Given the description of an element on the screen output the (x, y) to click on. 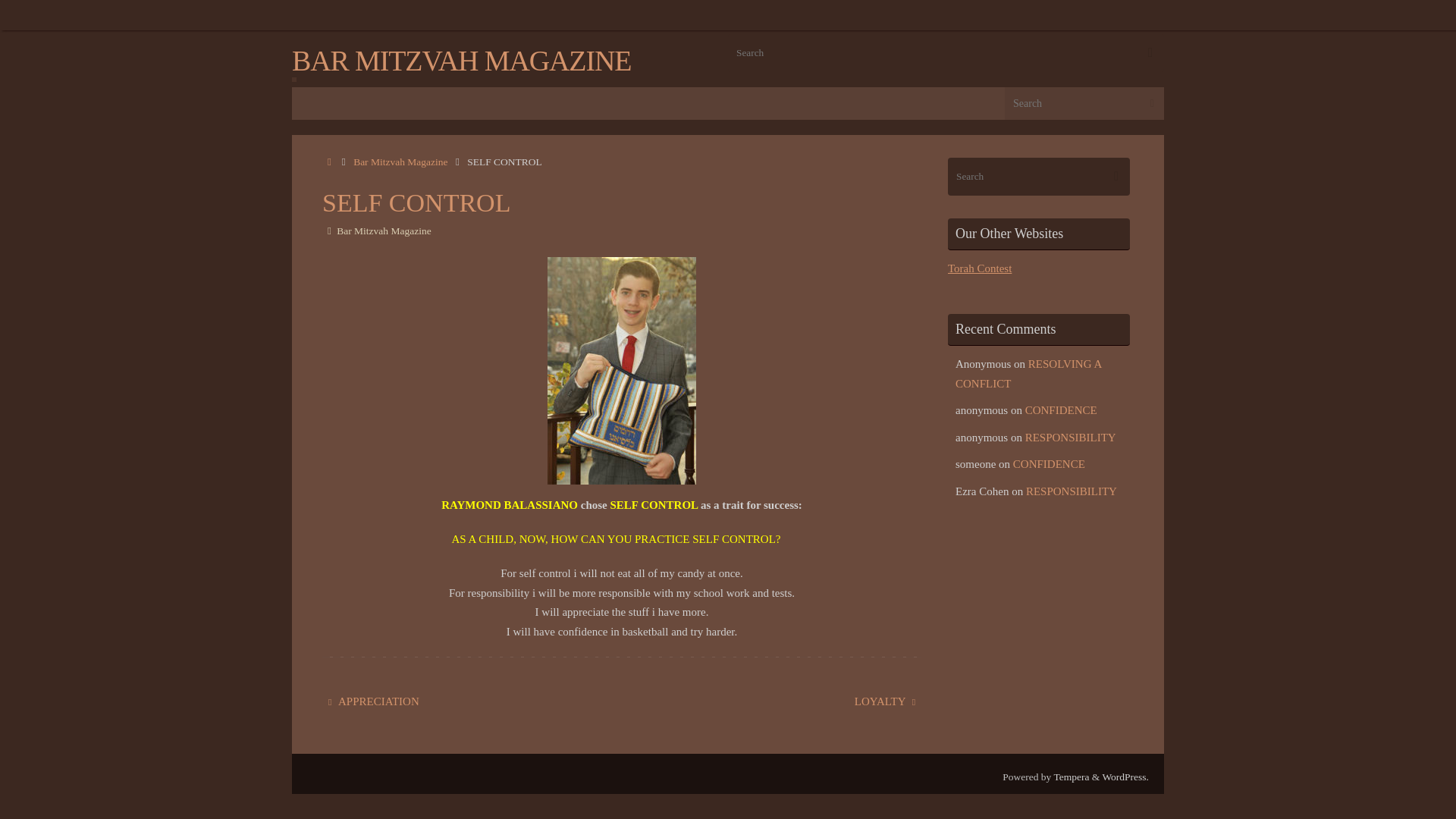
Bar Mitzvah Magazine (399, 161)
Search (1150, 53)
RESPONSIBILITY (1070, 437)
Search (1115, 176)
RESOLVING A CONFLICT (1027, 373)
CONFIDENCE (1048, 463)
Tempera Theme by Cryout Creations (1070, 776)
Torah Contest (979, 268)
APPRECIATION (462, 701)
LOYALTY (780, 701)
Search (1151, 102)
Categories (328, 229)
RESPONSIBILITY (1071, 491)
